Given the description of an element on the screen output the (x, y) to click on. 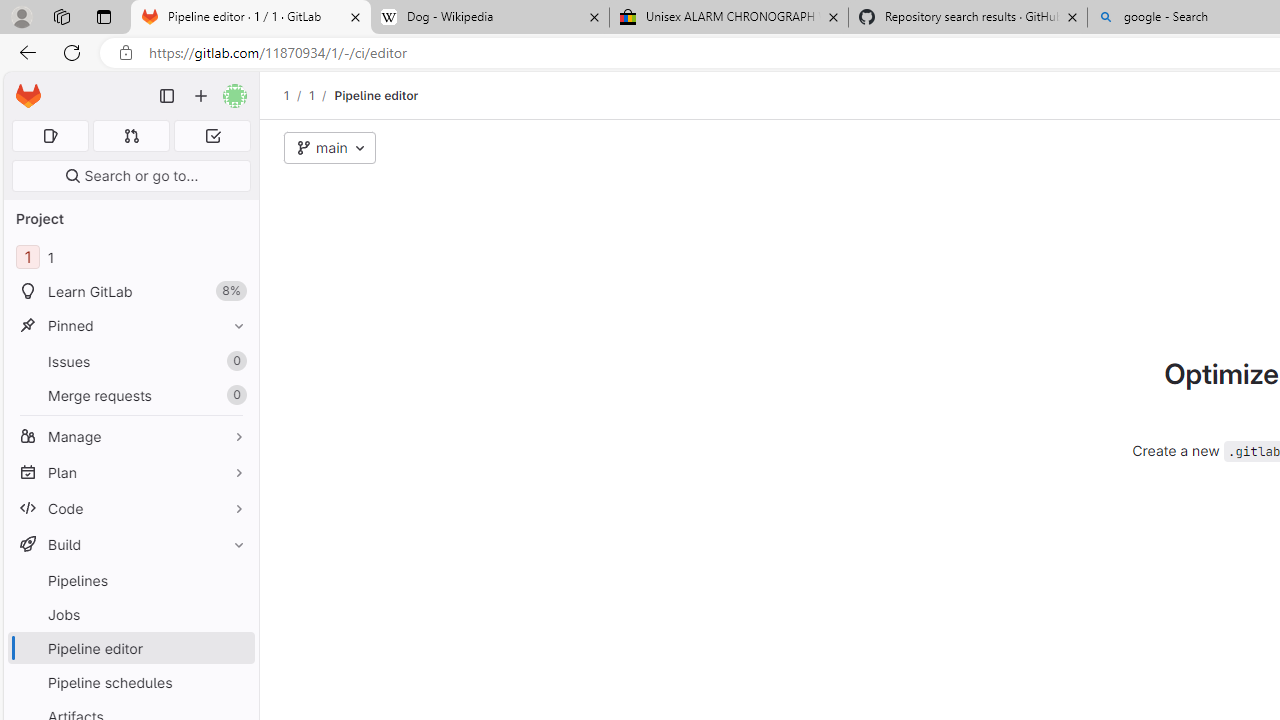
Pipelines (130, 579)
1/ (321, 95)
Assigned issues 0 (50, 136)
Build (130, 543)
Learn GitLab8% (130, 291)
Create new... (201, 96)
Pipeline editor (376, 95)
1 (311, 95)
main (330, 147)
Issues0 (130, 361)
